Given the description of an element on the screen output the (x, y) to click on. 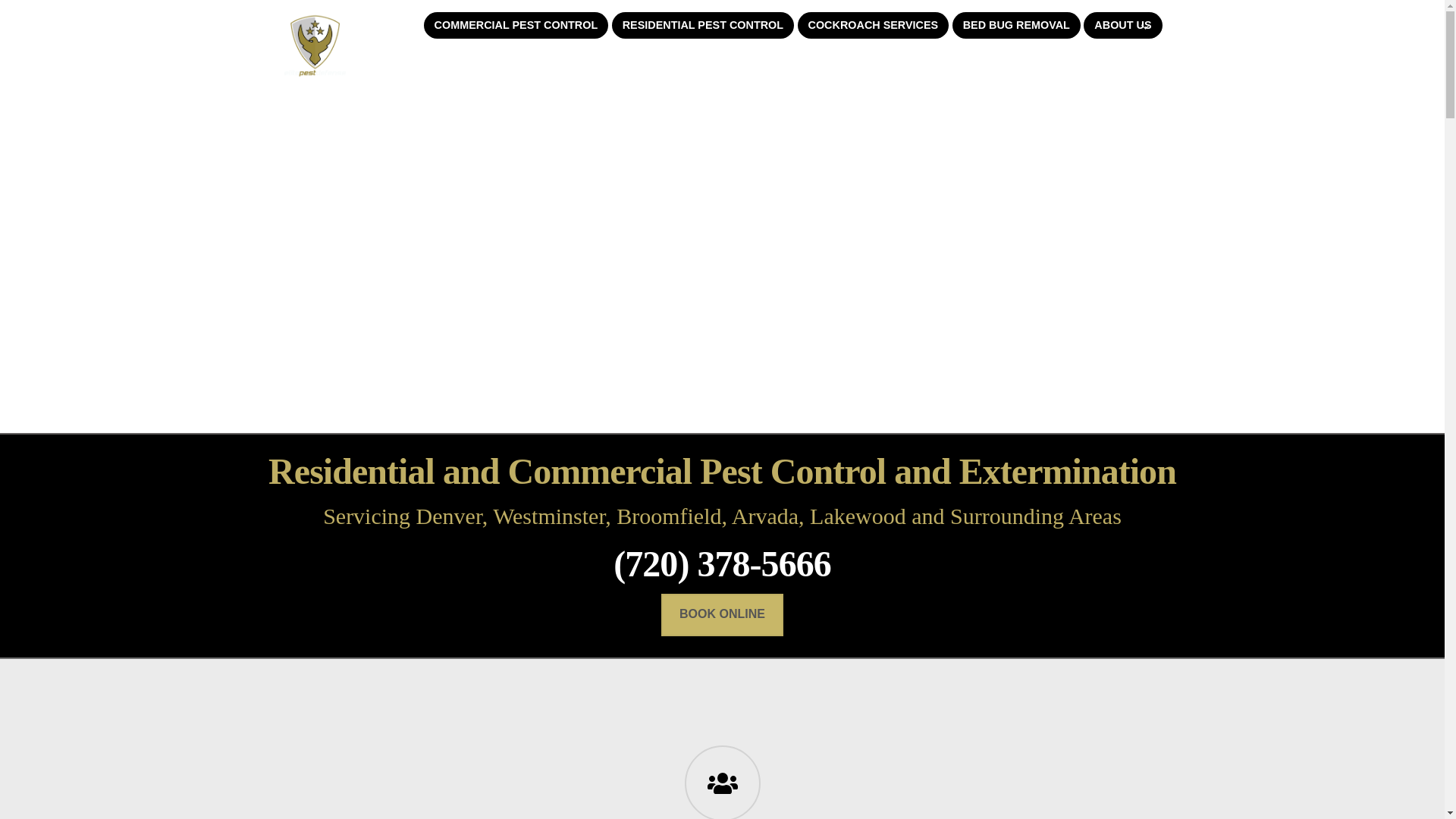
BED BUG REMOVAL (1016, 25)
COMMERCIAL PEST CONTROL (515, 25)
Elitepestdefense (314, 69)
BOOK ONLINE (722, 614)
COCKROACH SERVICES (873, 25)
RESIDENTIAL PEST CONTROL (702, 25)
ABOUT US (1122, 25)
